Given the description of an element on the screen output the (x, y) to click on. 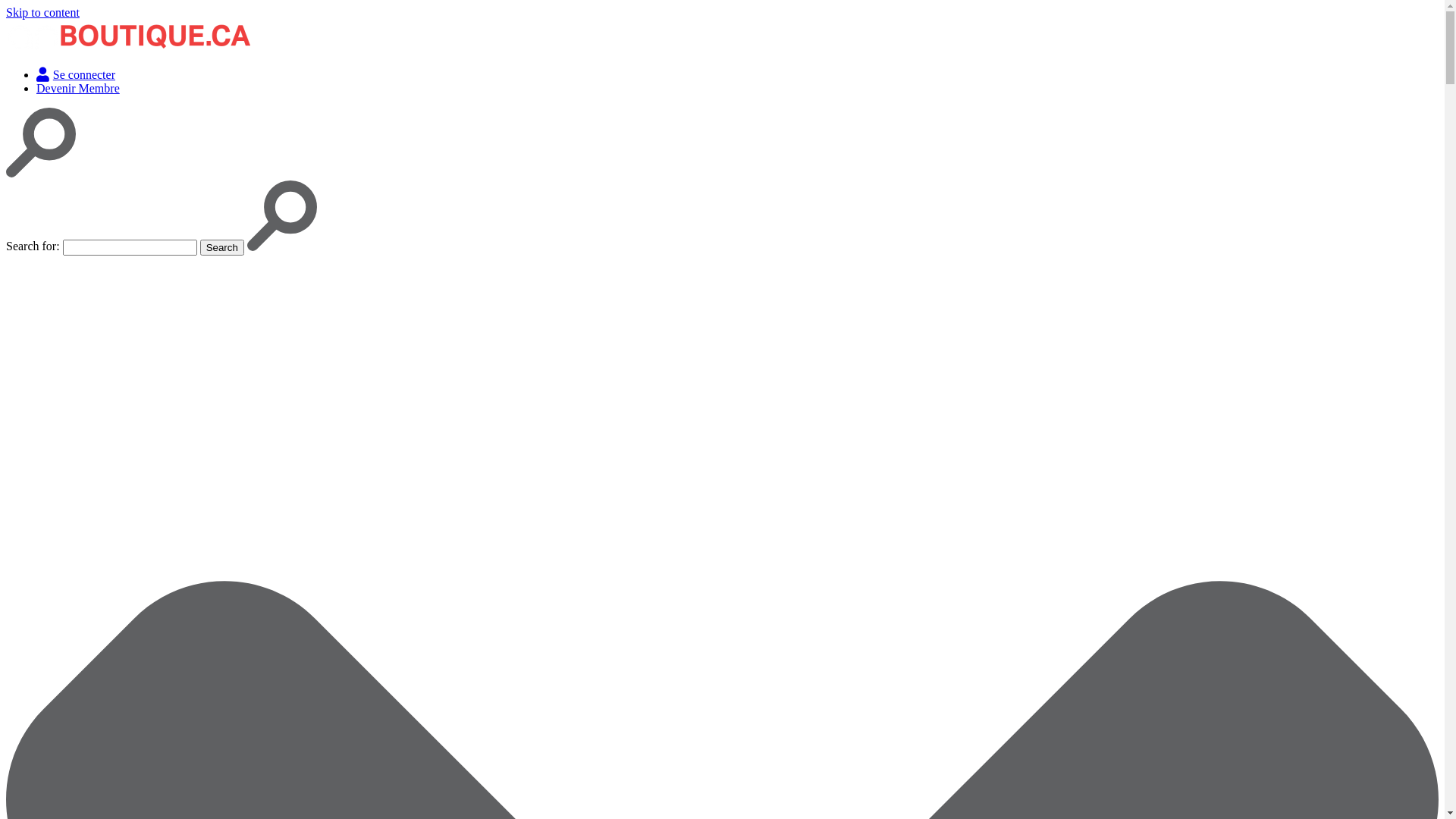
Se connecter Element type: text (75, 74)
Search Element type: text (222, 247)
Devenir Membre Element type: text (77, 87)
Skip to content Element type: text (42, 12)
AN Boutique Element type: text (38, 74)
